Given the description of an element on the screen output the (x, y) to click on. 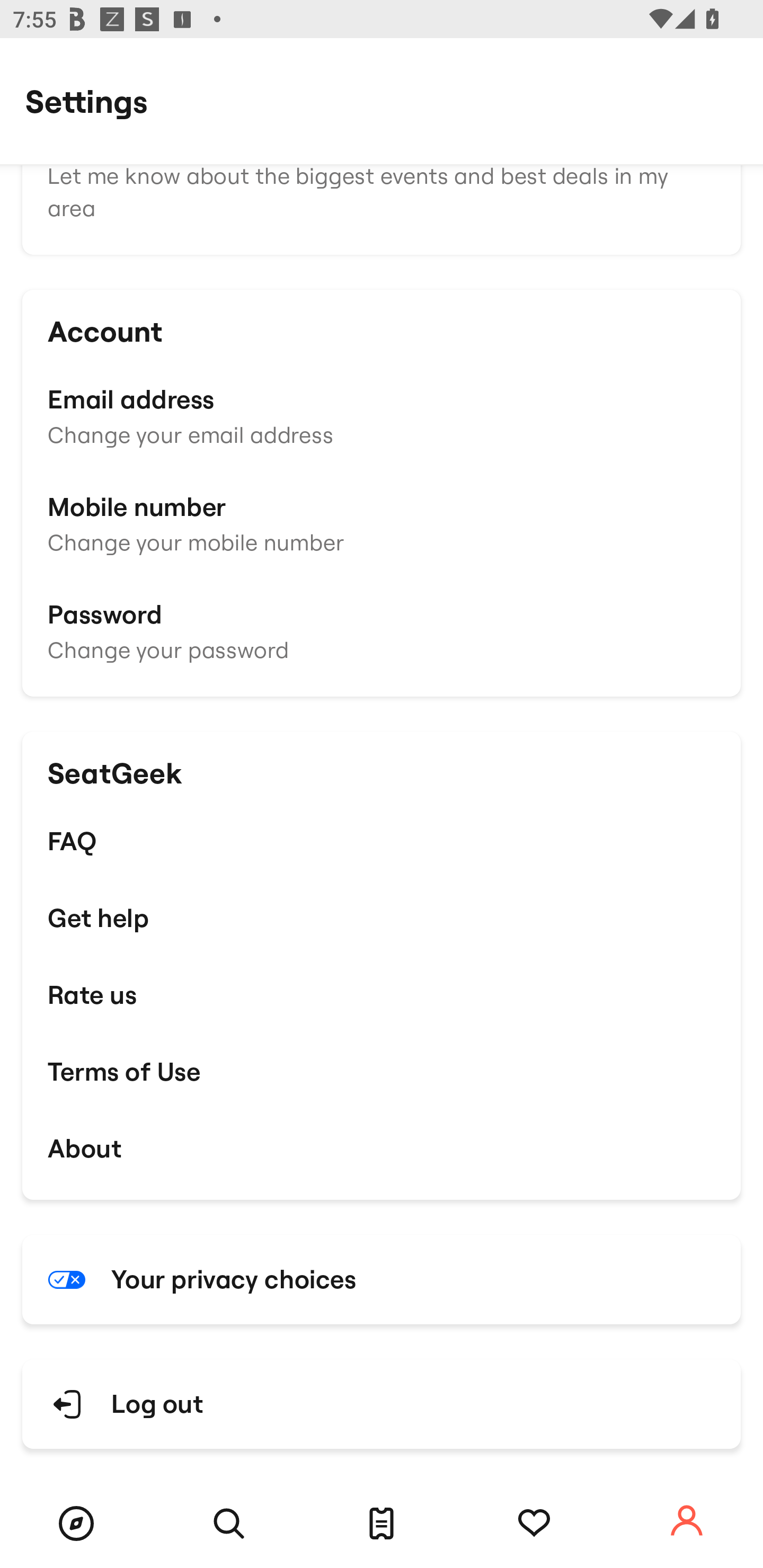
Email address Change your email address (381, 414)
Mobile number Change your mobile number (381, 522)
Password Change your password (381, 630)
FAQ (381, 840)
Get help (381, 917)
Rate us (381, 994)
Terms of Use (381, 1071)
About (381, 1148)
Your privacy choices (381, 1279)
Log out (381, 1403)
Browse (76, 1523)
Search (228, 1523)
Tickets (381, 1523)
Tracking (533, 1523)
Account (686, 1521)
